Given the description of an element on the screen output the (x, y) to click on. 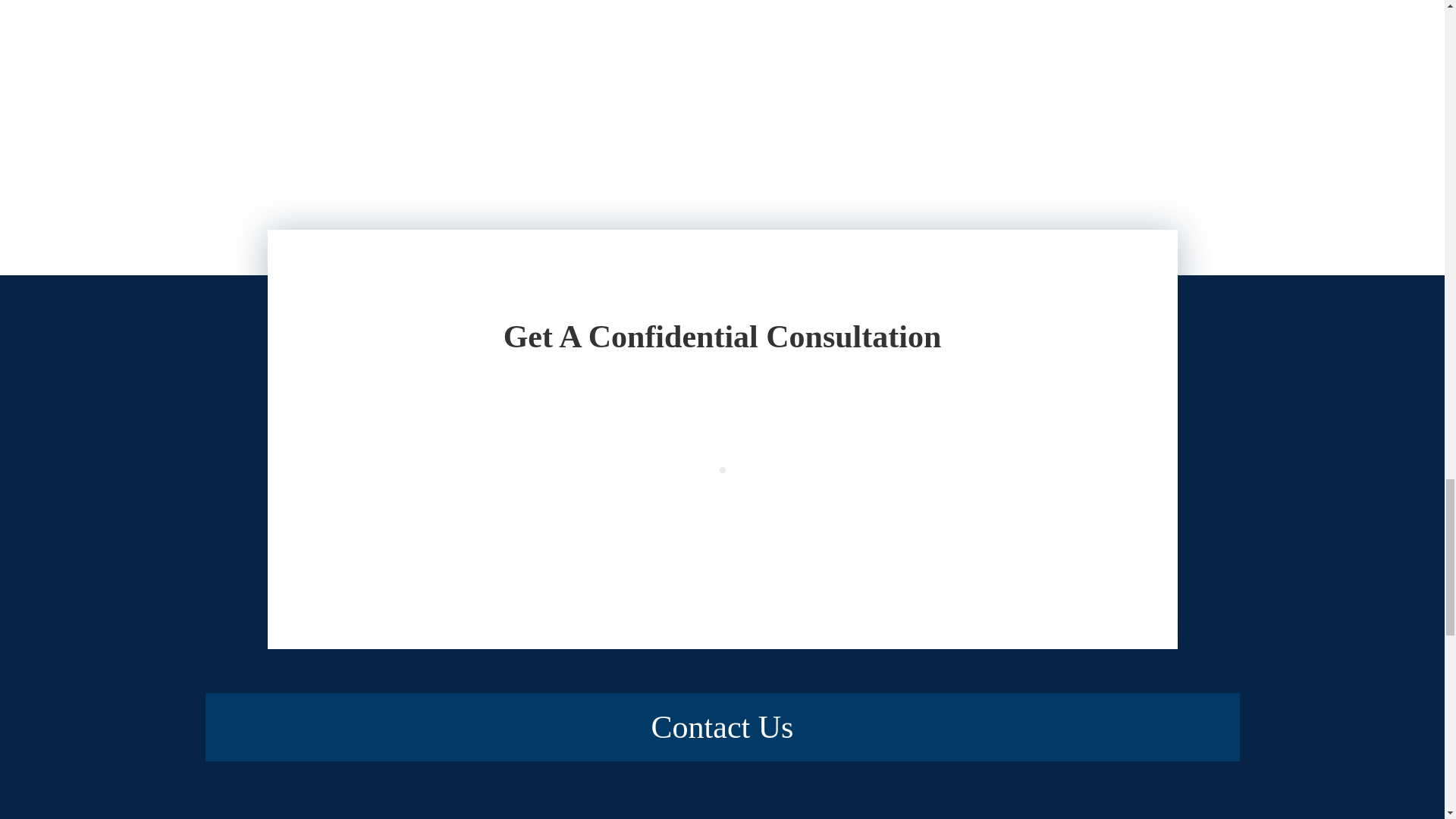
Testimonial - Julie (477, 11)
Testimonial- Emma (966, 11)
